Given the description of an element on the screen output the (x, y) to click on. 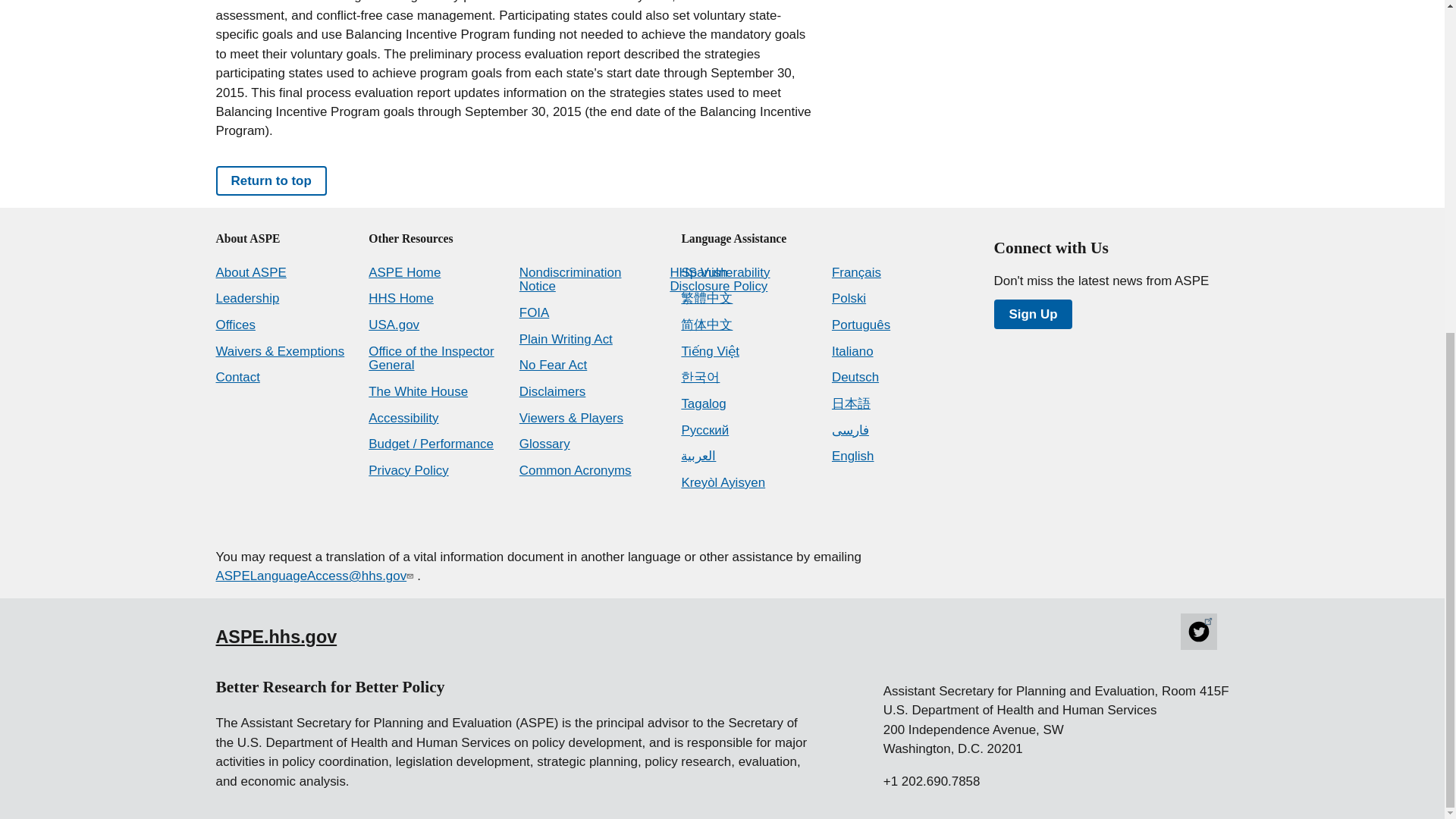
About ASPE (250, 272)
Nondiscrimination Notice (570, 279)
USA.gov (393, 324)
FOIA (534, 312)
Plain Writing Act (565, 339)
ASPE Home (404, 272)
HHS Vulnerability Disclosure Policy (719, 279)
Office of the Inspector General (430, 358)
Privacy Policy (408, 470)
Accessibility (403, 418)
